Given the description of an element on the screen output the (x, y) to click on. 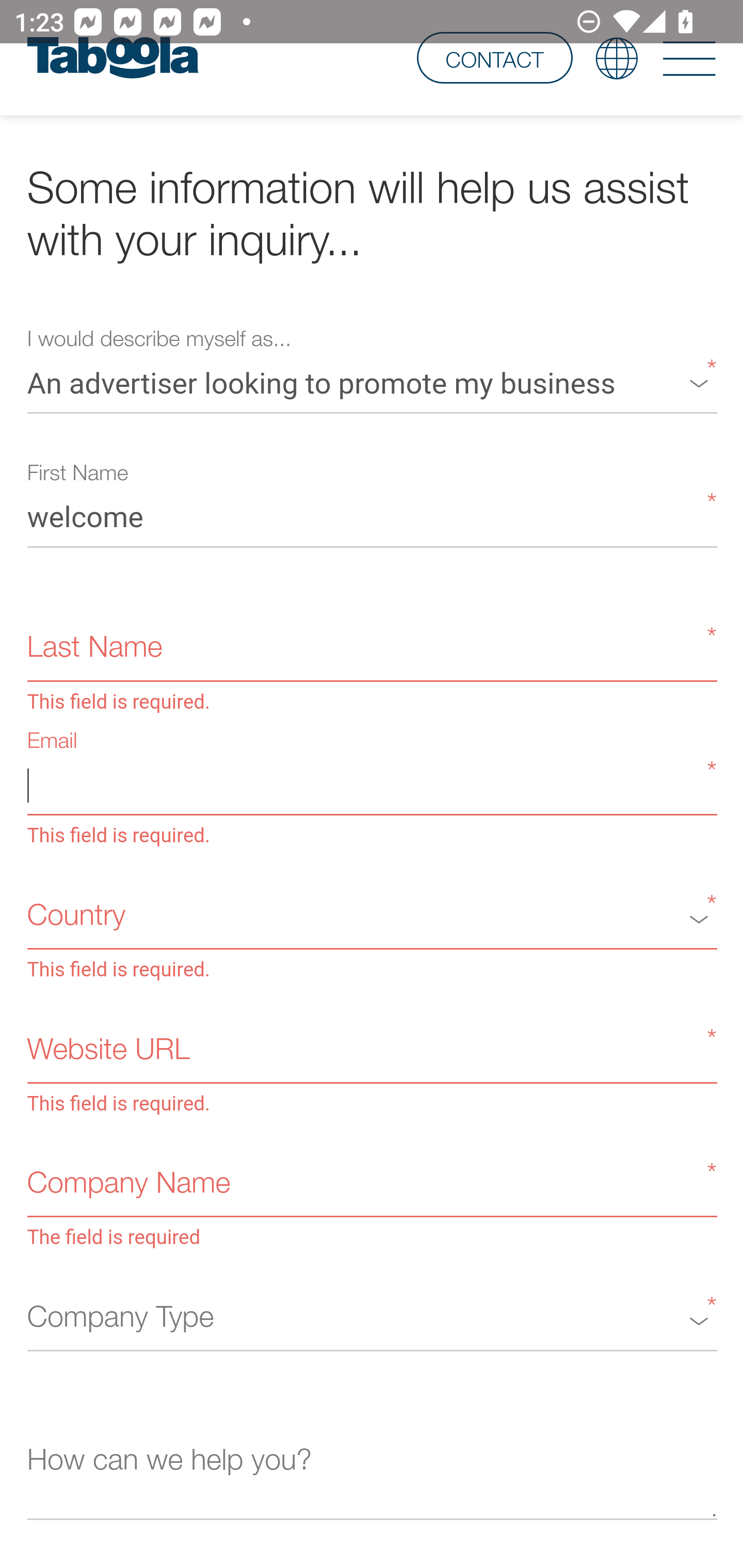
CONTACT (494, 58)
www.taboola (112, 58)
An advertiser looking to promote my business (371, 383)
welcome (371, 518)
* This field is required. Country (371, 919)
* Company Type (371, 1320)
